Given the description of an element on the screen output the (x, y) to click on. 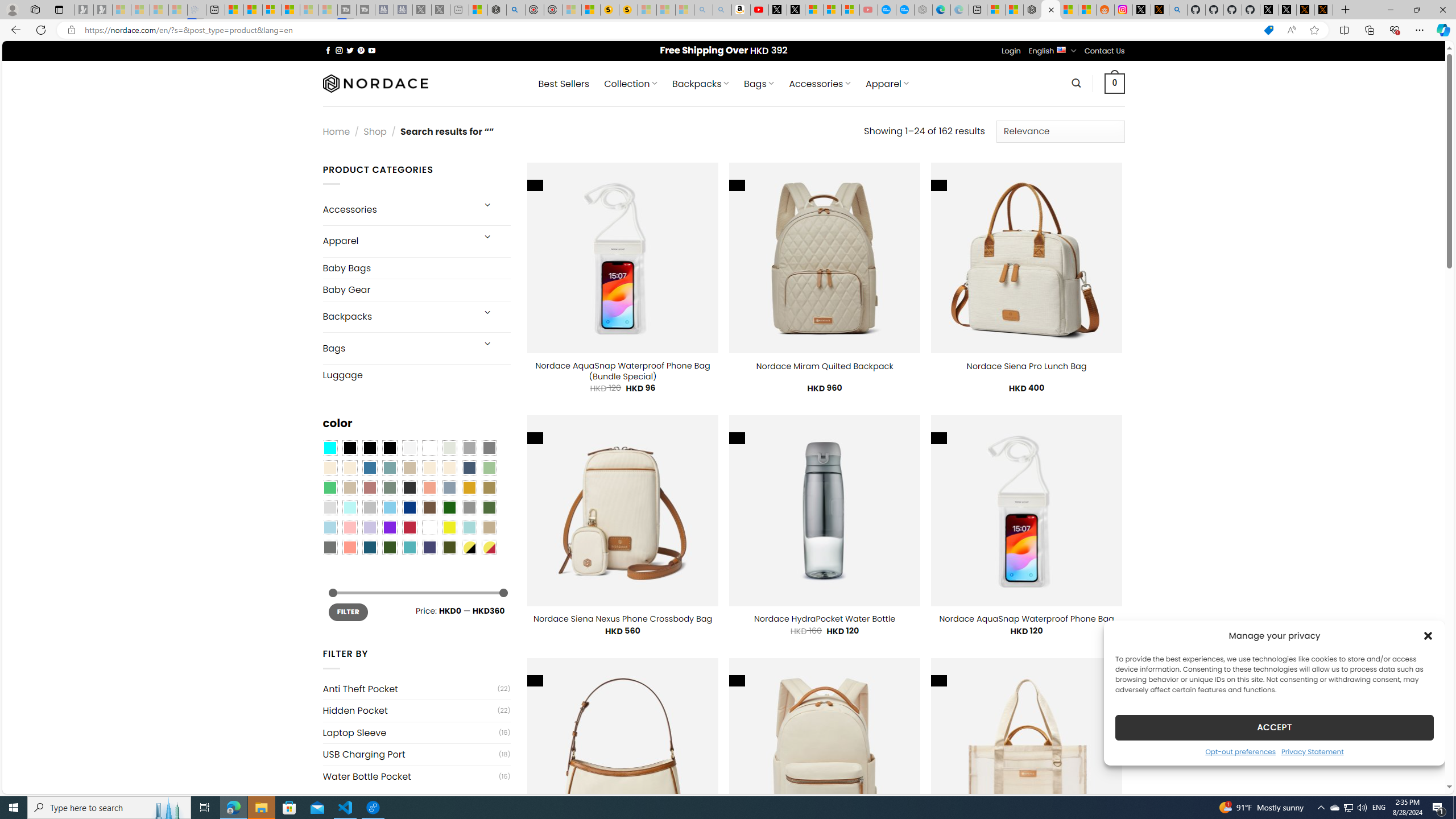
Yellow-Black (468, 547)
Nordace Miram Quilted Backpack (824, 365)
github - Search (1178, 9)
Address and search bar (669, 29)
Follow on Pinterest (360, 49)
Nordace AquaSnap Waterproof Phone Bag (1026, 618)
Split screen (1344, 29)
Login (1010, 50)
Pink (349, 527)
All Black (349, 447)
Follow on Facebook (327, 49)
Red (408, 527)
help.x.com | 524: A timeout occurred (1159, 9)
Read aloud this page (Ctrl+Shift+U) (1291, 29)
